Given the description of an element on the screen output the (x, y) to click on. 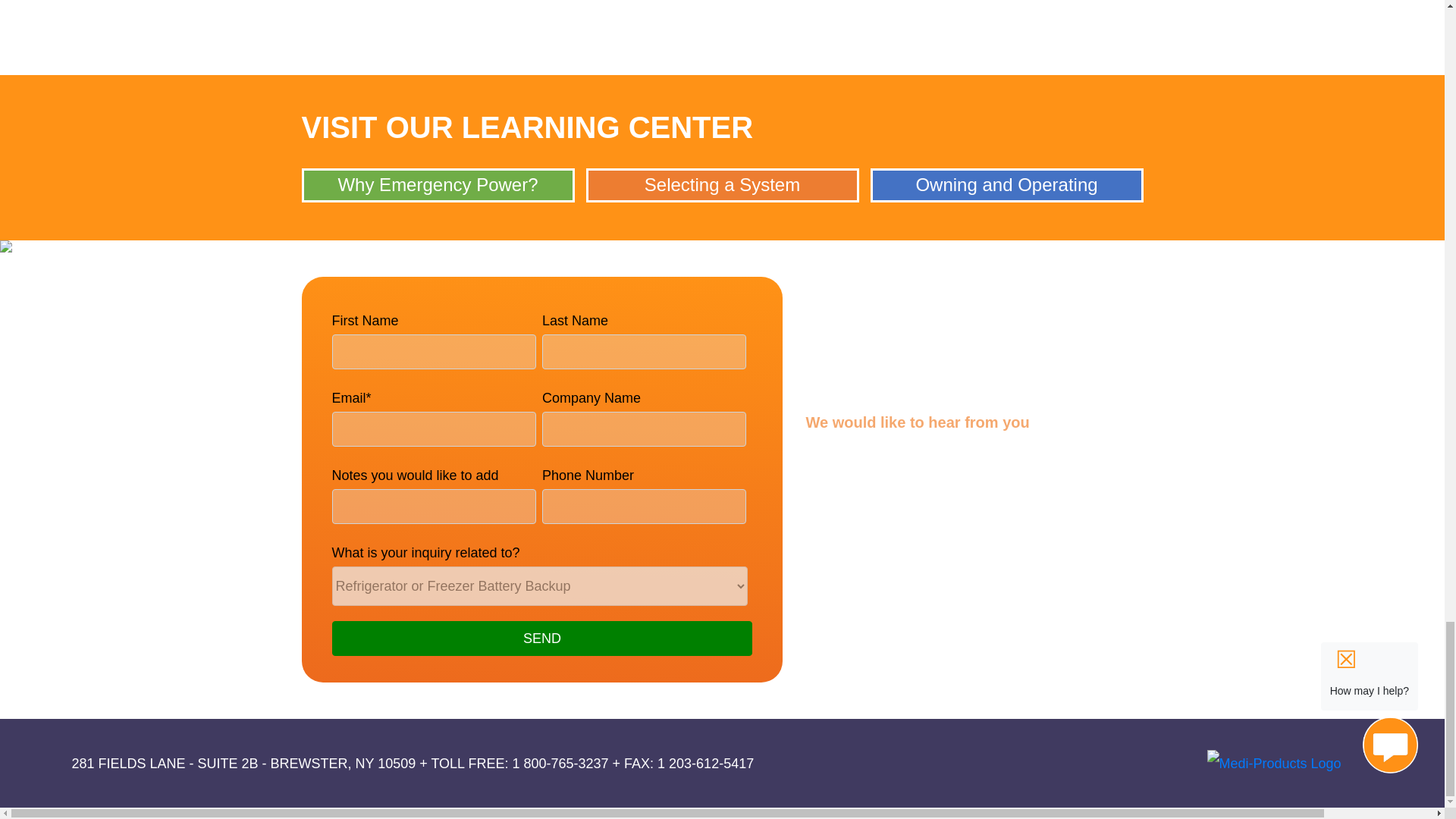
Send (541, 638)
